Given the description of an element on the screen output the (x, y) to click on. 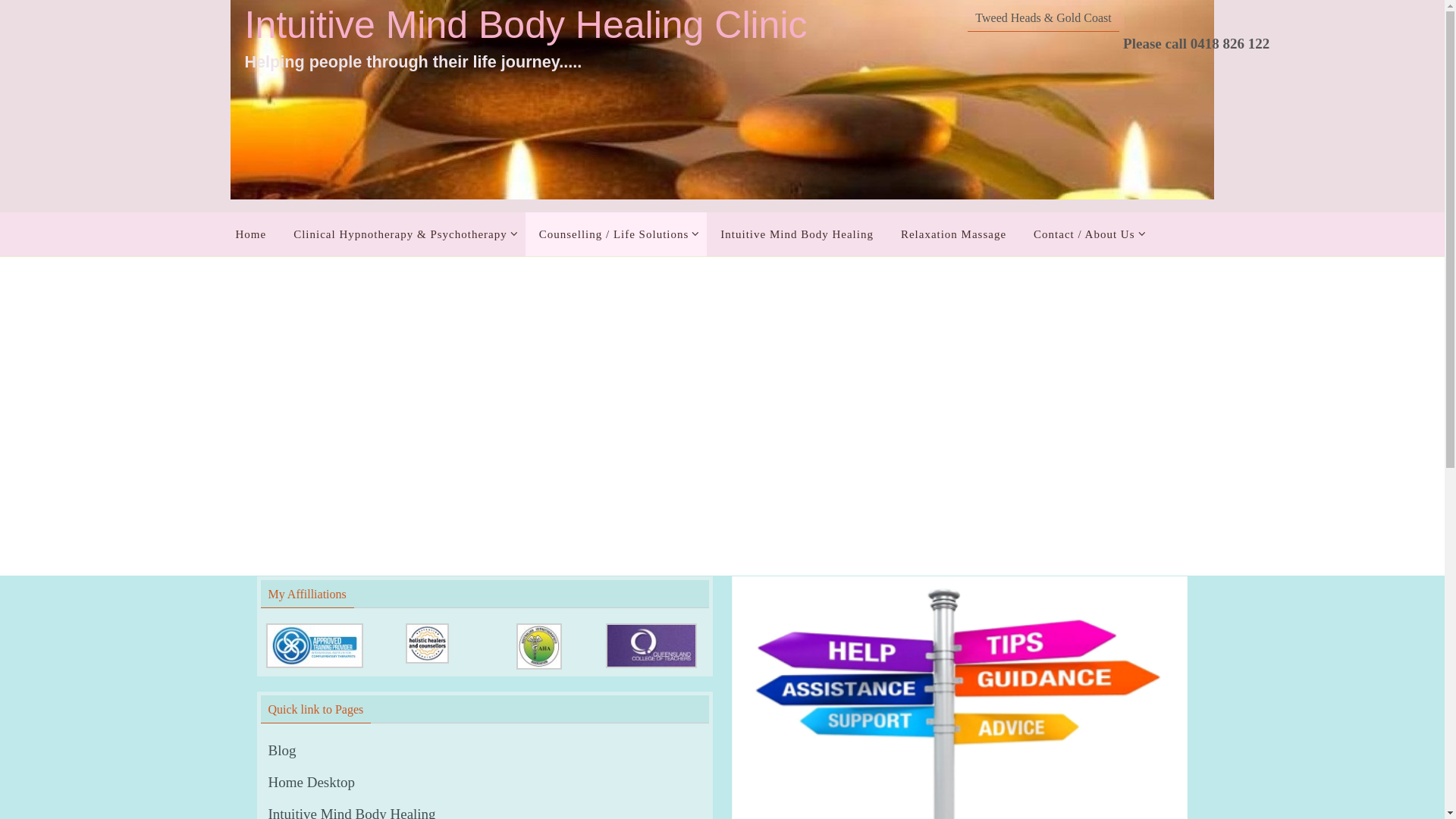
Intuitive Mind Body Healing Element type: text (796, 234)
Clinical Hypnotherapy & Psychotherapy Element type: text (402, 234)
Home Desktop Element type: text (311, 782)
Intuitive Mind Body Healing Clinic Element type: text (525, 25)
Home Element type: text (250, 234)
Blog Element type: text (282, 750)
Relaxation Massage Element type: text (953, 234)
Counselling / Life Solutions Element type: text (616, 234)
Contact / About Us Element type: text (1085, 234)
